Given the description of an element on the screen output the (x, y) to click on. 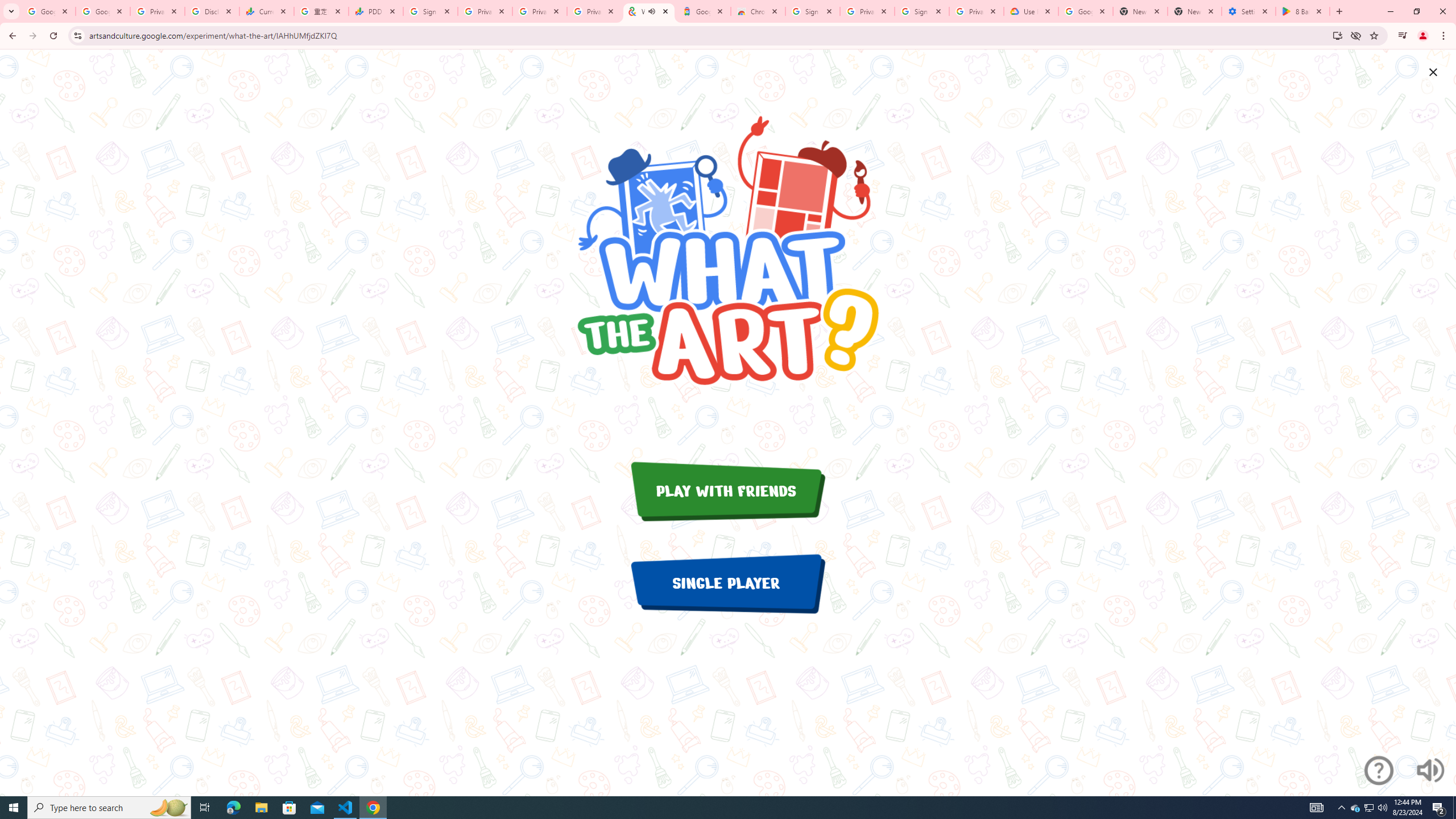
Privacy Checkup (594, 11)
Install Google Arts & Culture (1336, 35)
Chrome Web Store - Color themes by Chrome (757, 11)
New Tab (1194, 11)
Privacy Checkup (539, 11)
